Given the description of an element on the screen output the (x, y) to click on. 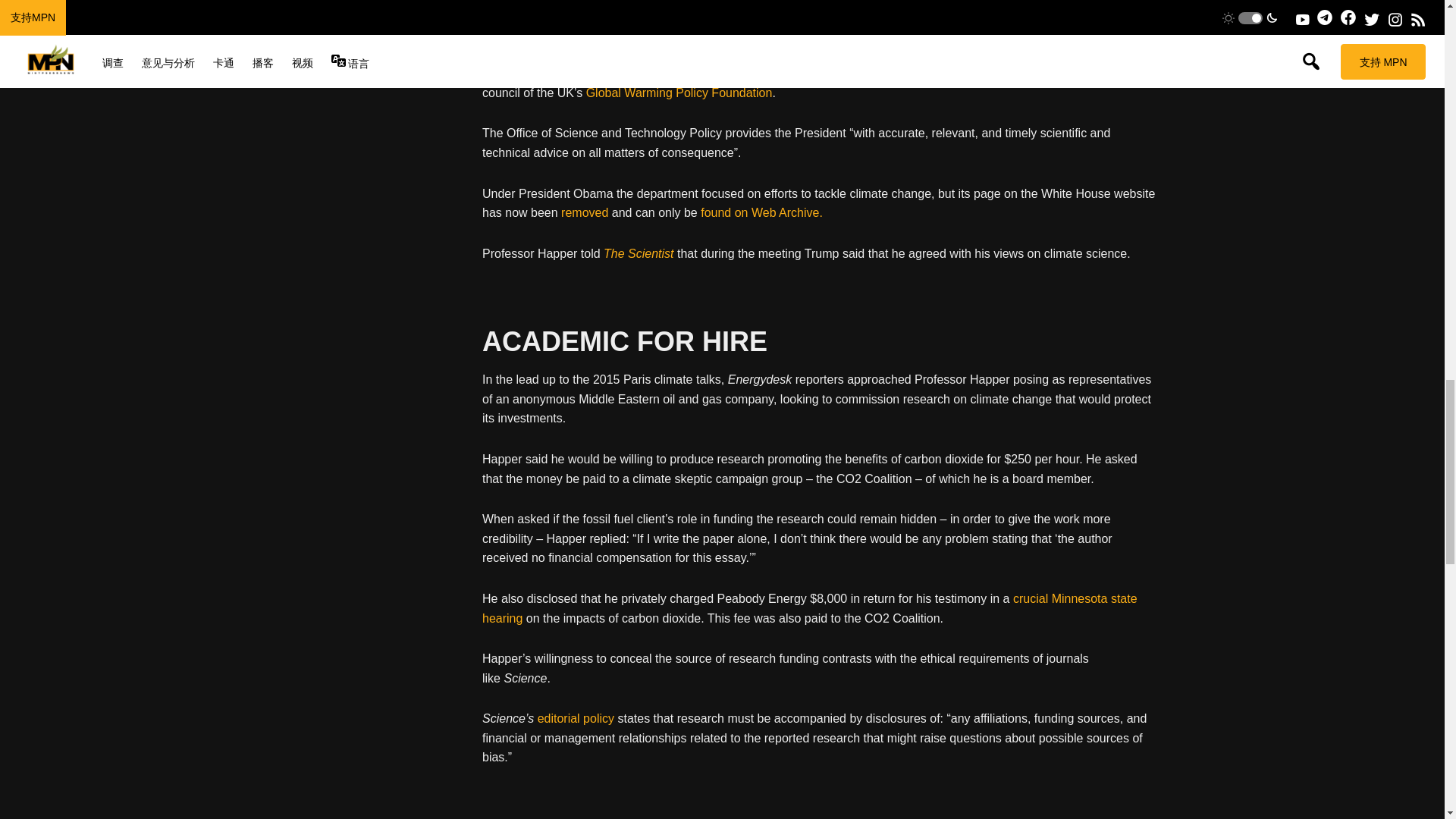
Global Warming Policy Foundation (679, 92)
removed (585, 212)
